Given the description of an element on the screen output the (x, y) to click on. 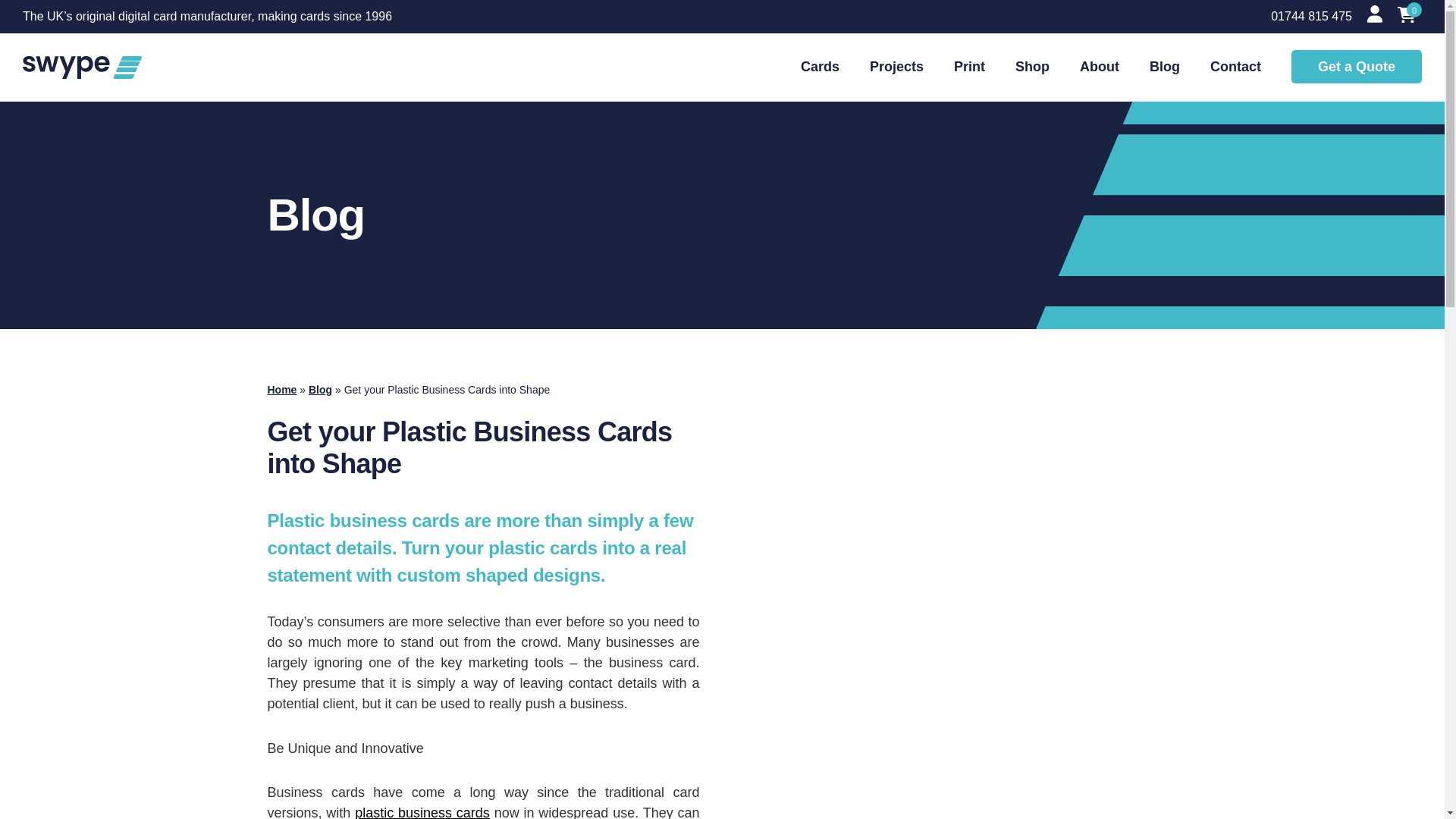
Blog (1164, 66)
Get a Quote (1356, 66)
Print (969, 66)
Blog (319, 389)
01744 815 475 (1311, 16)
Shop (1031, 66)
Projects (896, 66)
Contact (1234, 66)
Cards (820, 66)
Swype (82, 67)
Home (281, 389)
About (1099, 66)
plastic business cards (422, 812)
Swype (82, 67)
